Given the description of an element on the screen output the (x, y) to click on. 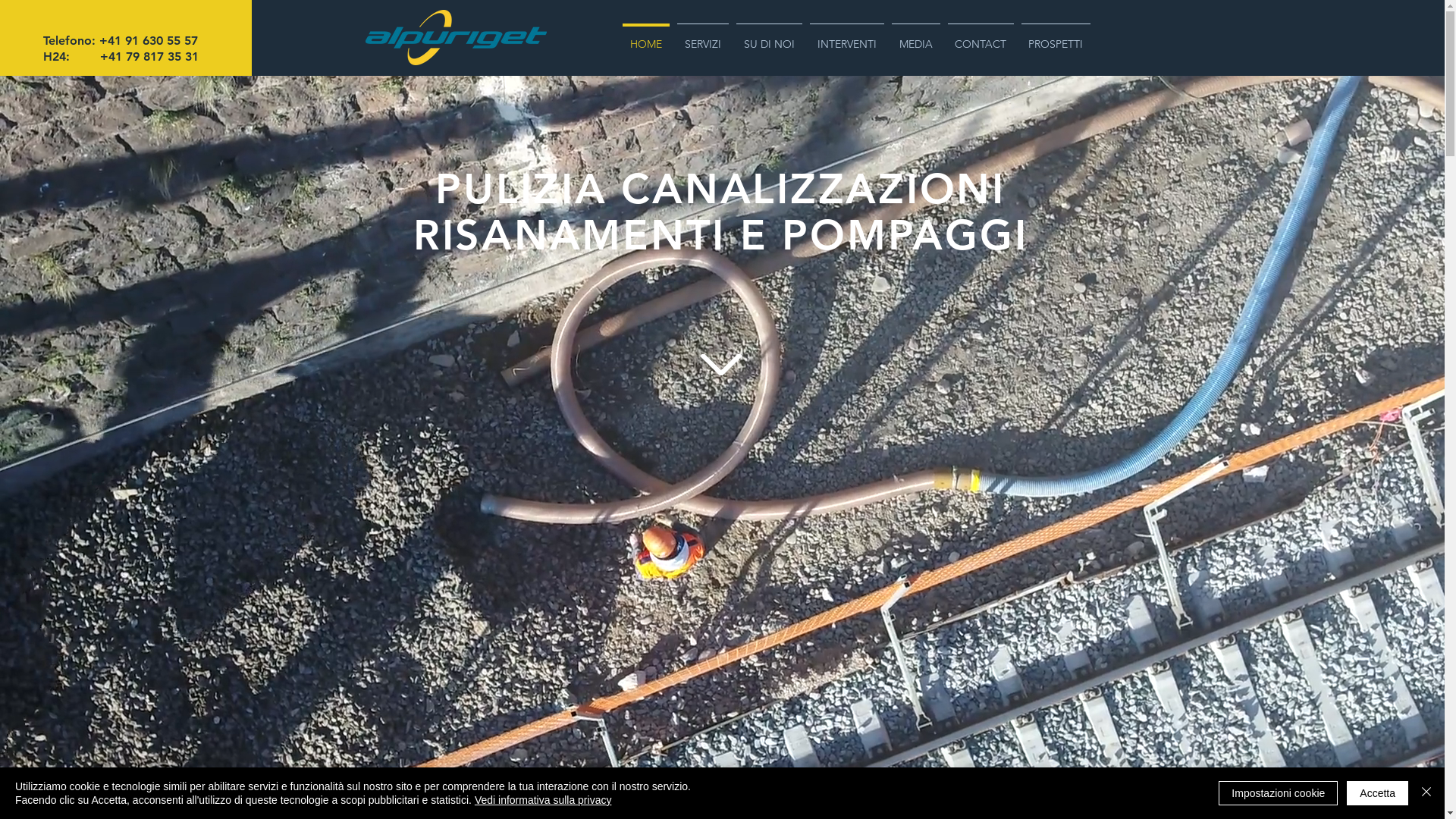
INTERVENTI Element type: text (846, 37)
Impostazioni cookie Element type: text (1277, 793)
SU DI NOI Element type: text (769, 37)
Vedi informativa sulla privacy Element type: text (542, 799)
SERVIZI Element type: text (702, 37)
HOME Element type: text (645, 37)
CONTACT Element type: text (979, 37)
Accetta Element type: text (1377, 793)
MEDIA Element type: text (915, 37)
PROSPETTI Element type: text (1055, 37)
